Given the description of an element on the screen output the (x, y) to click on. 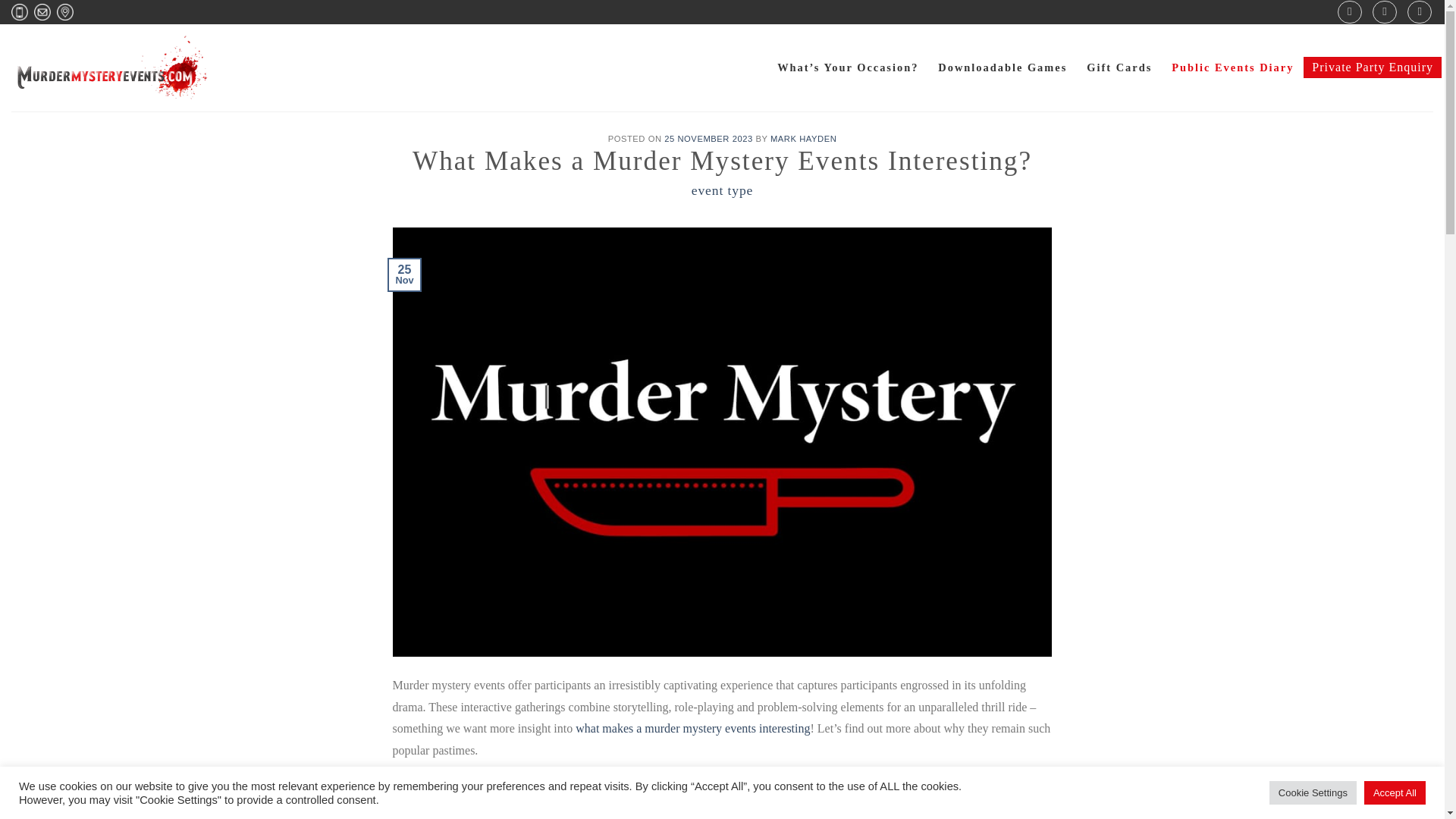
event type (722, 190)
Downloadable Games (1002, 67)
Public Events Diary (1233, 67)
Private Party Enquiry (1372, 66)
25 NOVEMBER 2023 (707, 138)
Murder Mystery Events - Dying to please! (111, 67)
Basket (1419, 11)
MARK HAYDEN (802, 138)
what makes a murder mystery events interesting (692, 727)
Gift Cards (1118, 67)
